Given the description of an element on the screen output the (x, y) to click on. 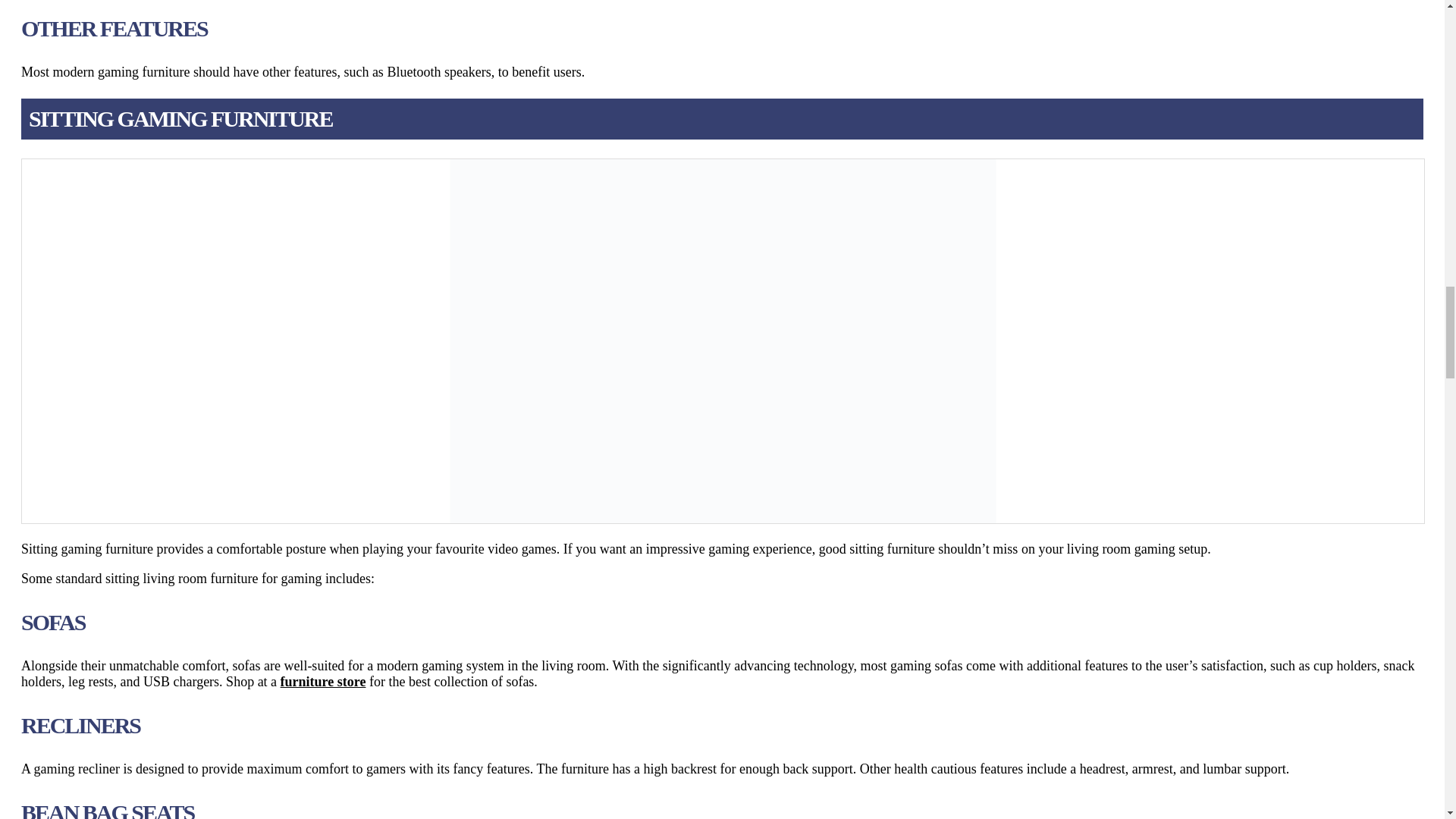
furniture store (323, 681)
